Given the description of an element on the screen output the (x, y) to click on. 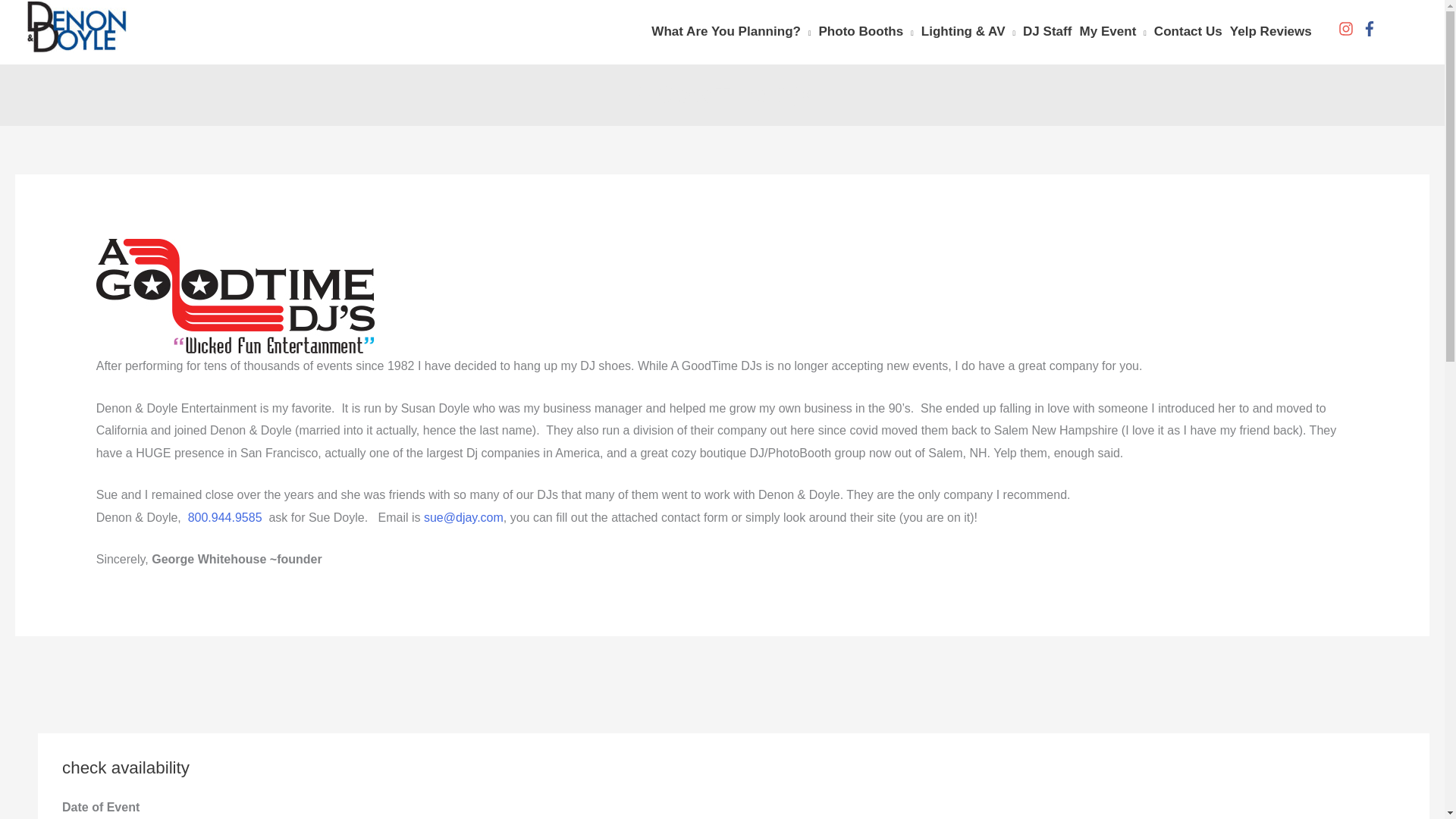
Yelp Reviews (1274, 32)
Contact Us (1192, 32)
My Event (1115, 32)
Photo Booths (869, 32)
What Are You Planning? (734, 32)
